Given the description of an element on the screen output the (x, y) to click on. 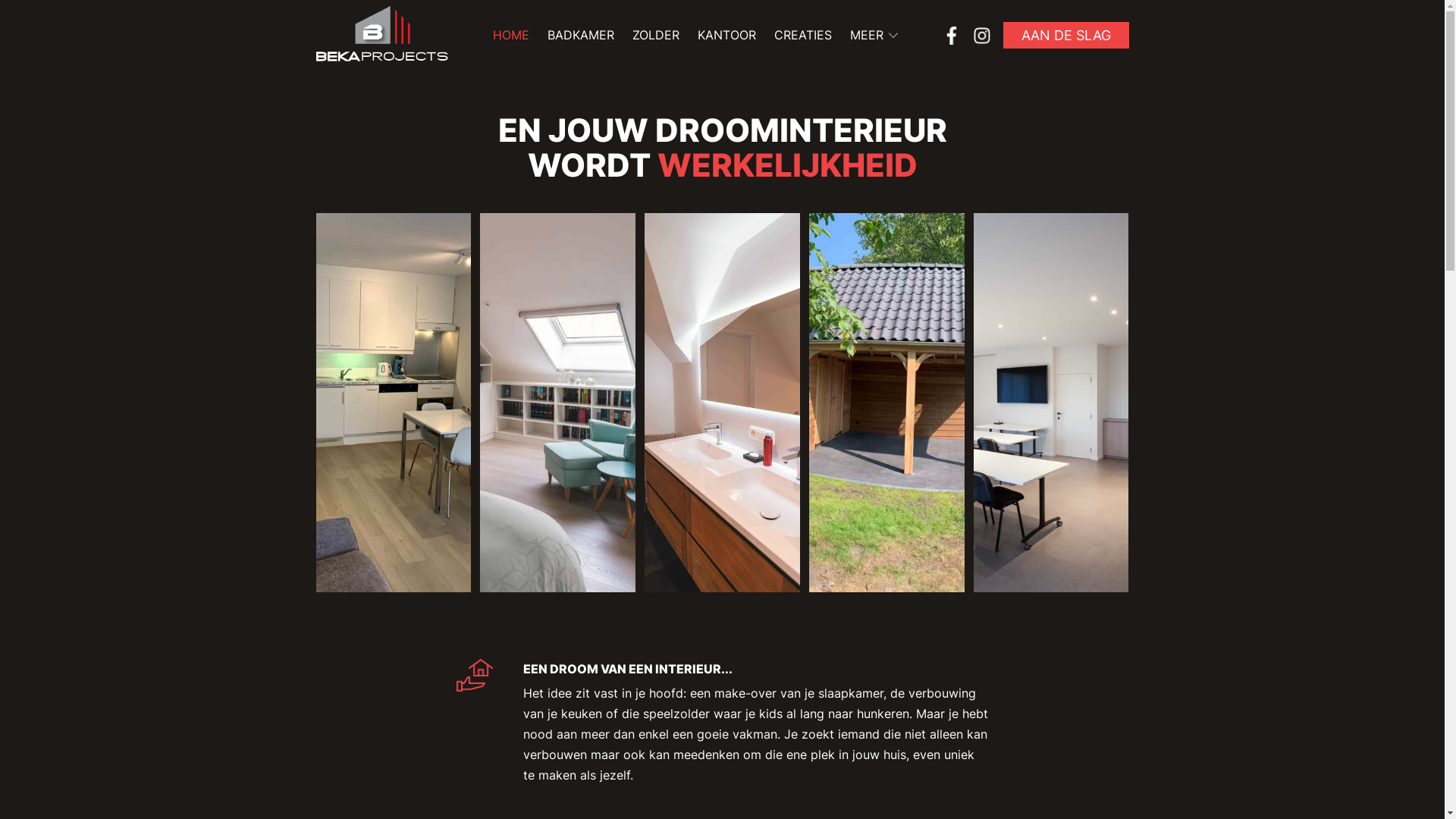
ZOLDER Element type: text (655, 34)
MEER Element type: text (873, 34)
AAN DE SLAG Element type: text (1065, 34)
BADKAMER Element type: text (580, 34)
HOME Element type: text (510, 34)
CREATIES Element type: text (802, 34)
KANTOOR Element type: text (726, 34)
